Given the description of an element on the screen output the (x, y) to click on. 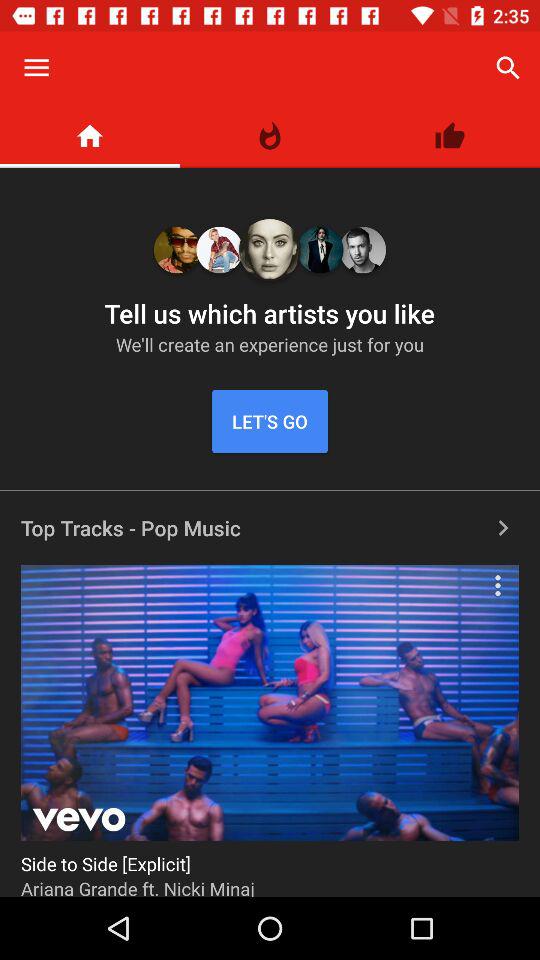
turn off the let's go (269, 421)
